Given the description of an element on the screen output the (x, y) to click on. 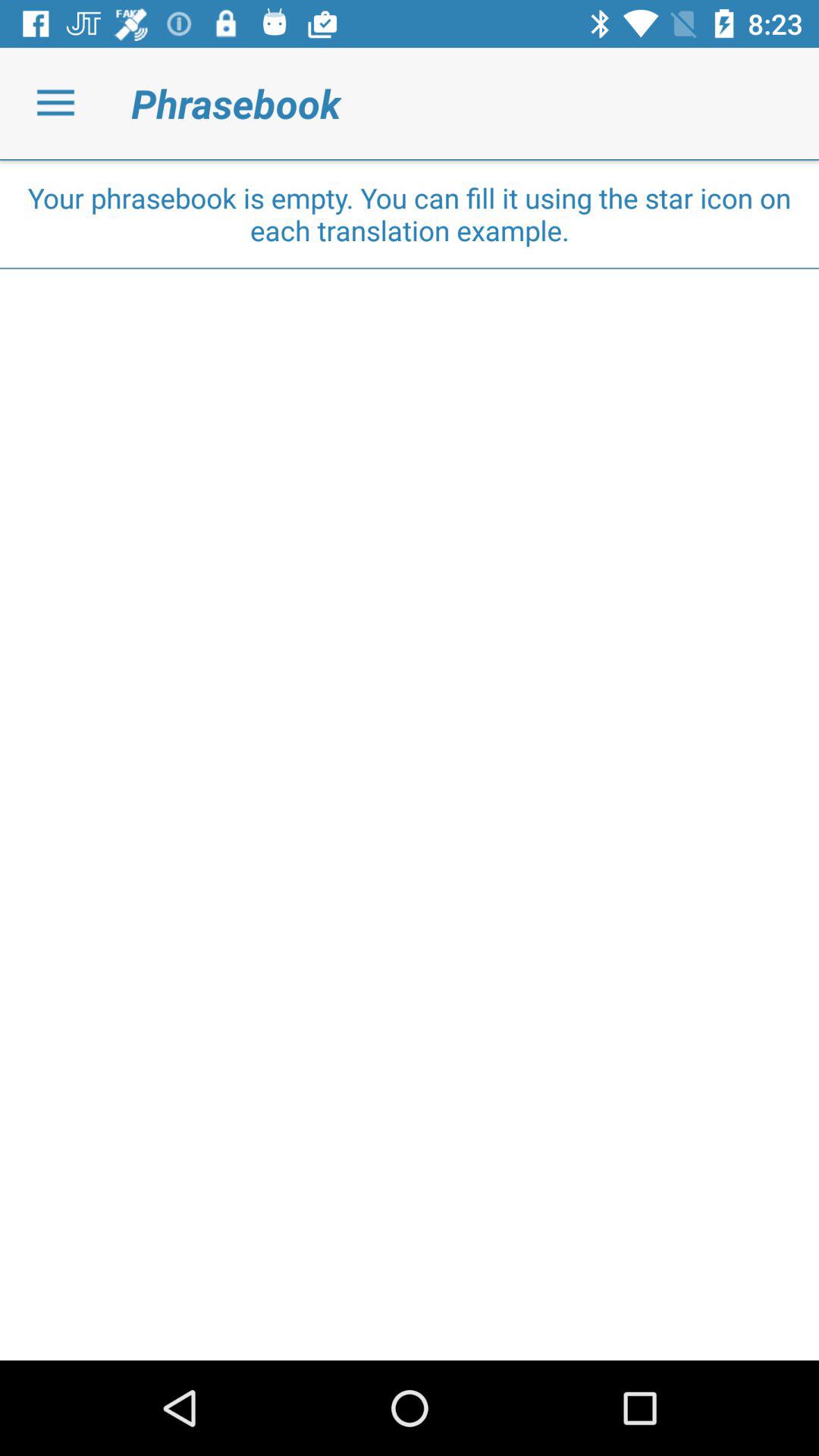
select the item above your phrasebook is icon (409, 159)
